Given the description of an element on the screen output the (x, y) to click on. 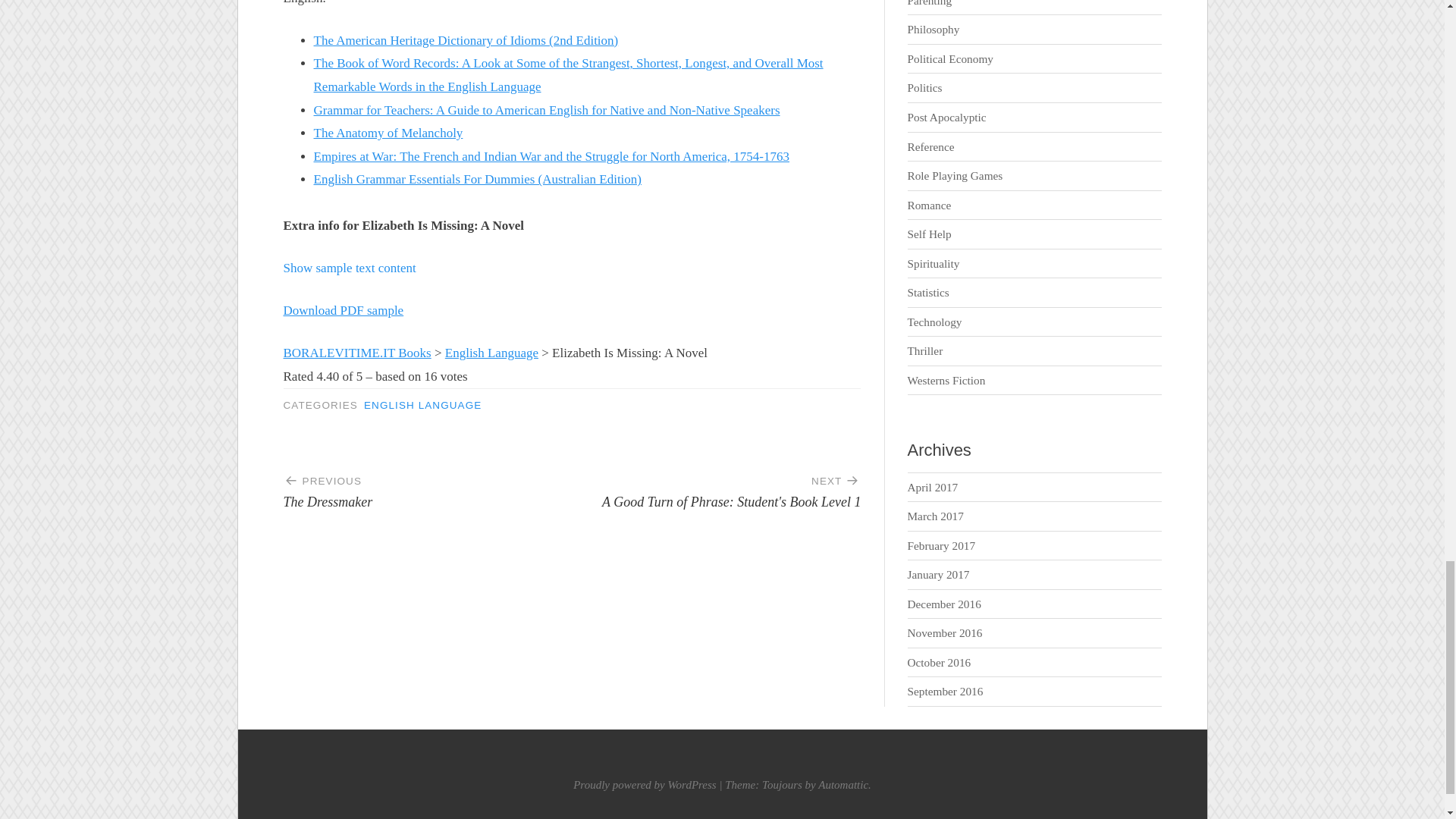
BORALEVITIME.IT Books (356, 352)
The Anatomy of Melancholy (388, 133)
ENGLISH LANGUAGE (422, 405)
Go to the English Language category archives. (491, 352)
English Language (491, 352)
Go to BORALEVITIME.IT Books. (356, 352)
Click to show sample text from this book (349, 268)
Show sample text content (349, 268)
Download PDF sample (343, 310)
Elizabeth Is Missing: A Novel (427, 485)
